Given the description of an element on the screen output the (x, y) to click on. 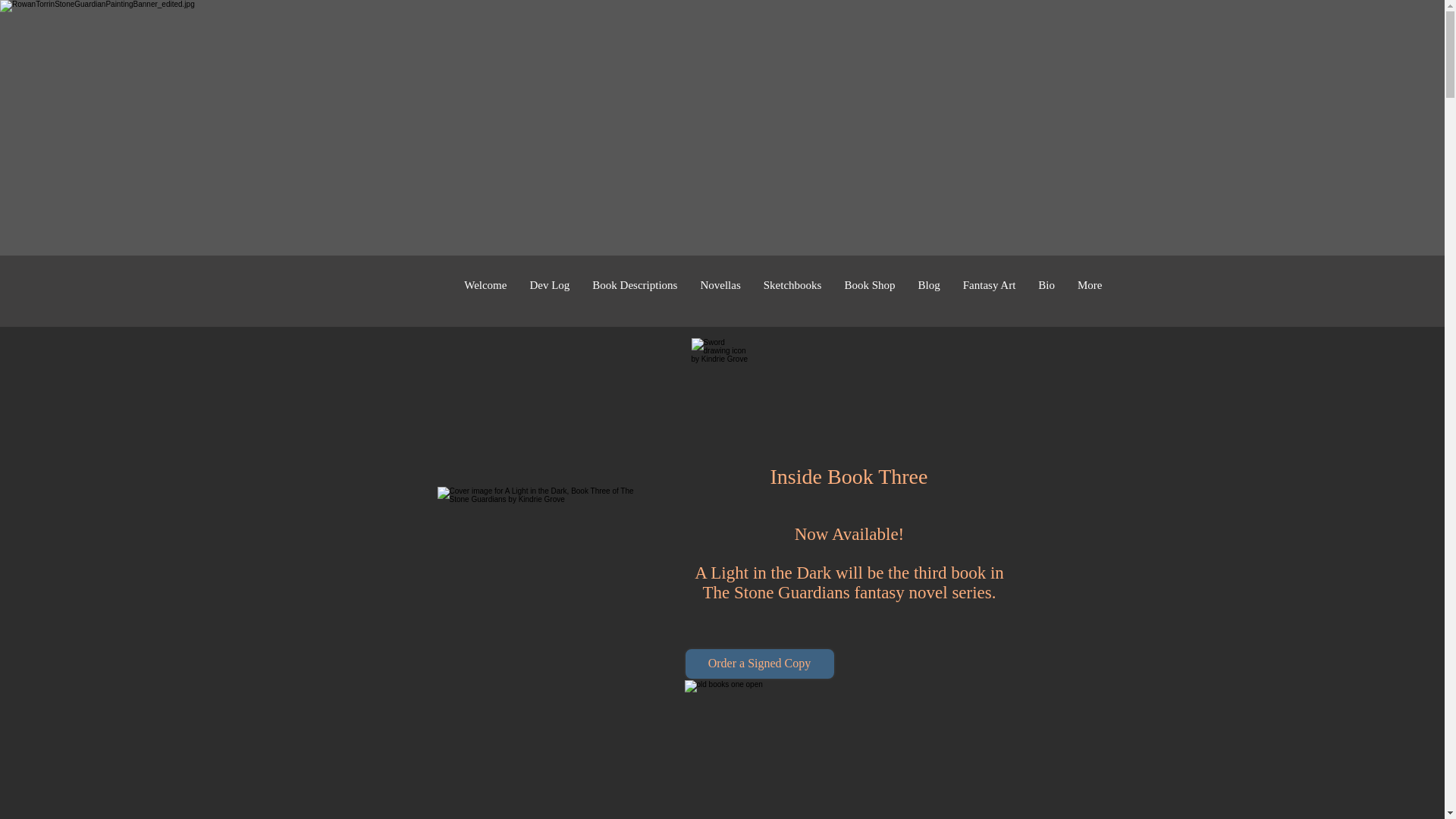
ORDER A SIGNED COPY (713, 581)
Blog (929, 290)
Order a Signed Copy (759, 663)
BUY ON AMAZON (705, 484)
Dev Log (549, 290)
Book Descriptions (634, 290)
Novellas (719, 290)
Bio (1045, 290)
Book Shop (868, 290)
Welcome (485, 290)
Sketchbooks (792, 290)
Fantasy Art (989, 290)
